Given the description of an element on the screen output the (x, y) to click on. 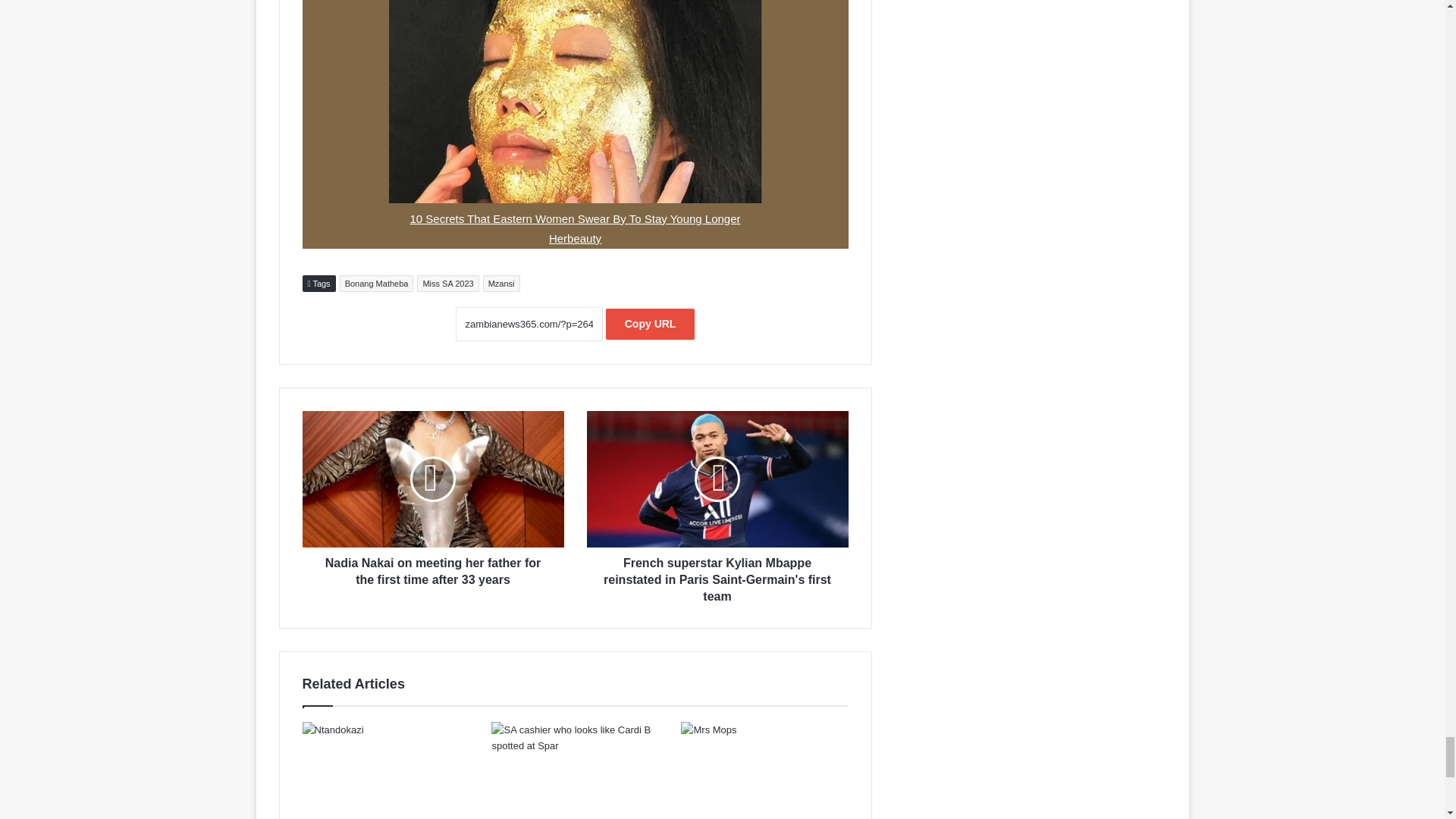
Miss SA 2023 (447, 283)
Bonang Matheba (376, 283)
Mzansi (501, 283)
Copy URL (650, 323)
